Given the description of an element on the screen output the (x, y) to click on. 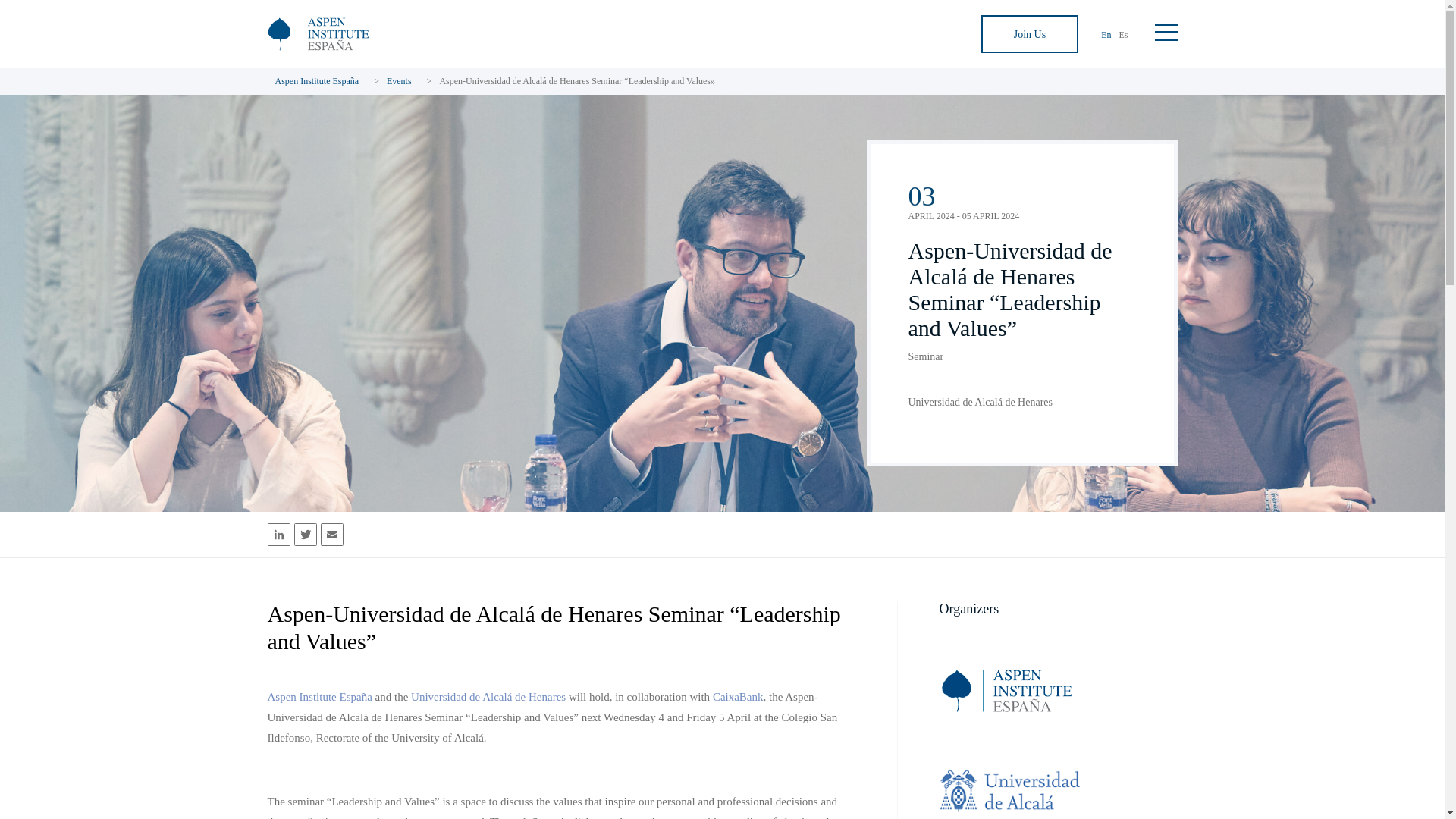
En (1105, 33)
Events (399, 81)
CaixaBank (737, 696)
Join Us (1029, 34)
